Given the description of an element on the screen output the (x, y) to click on. 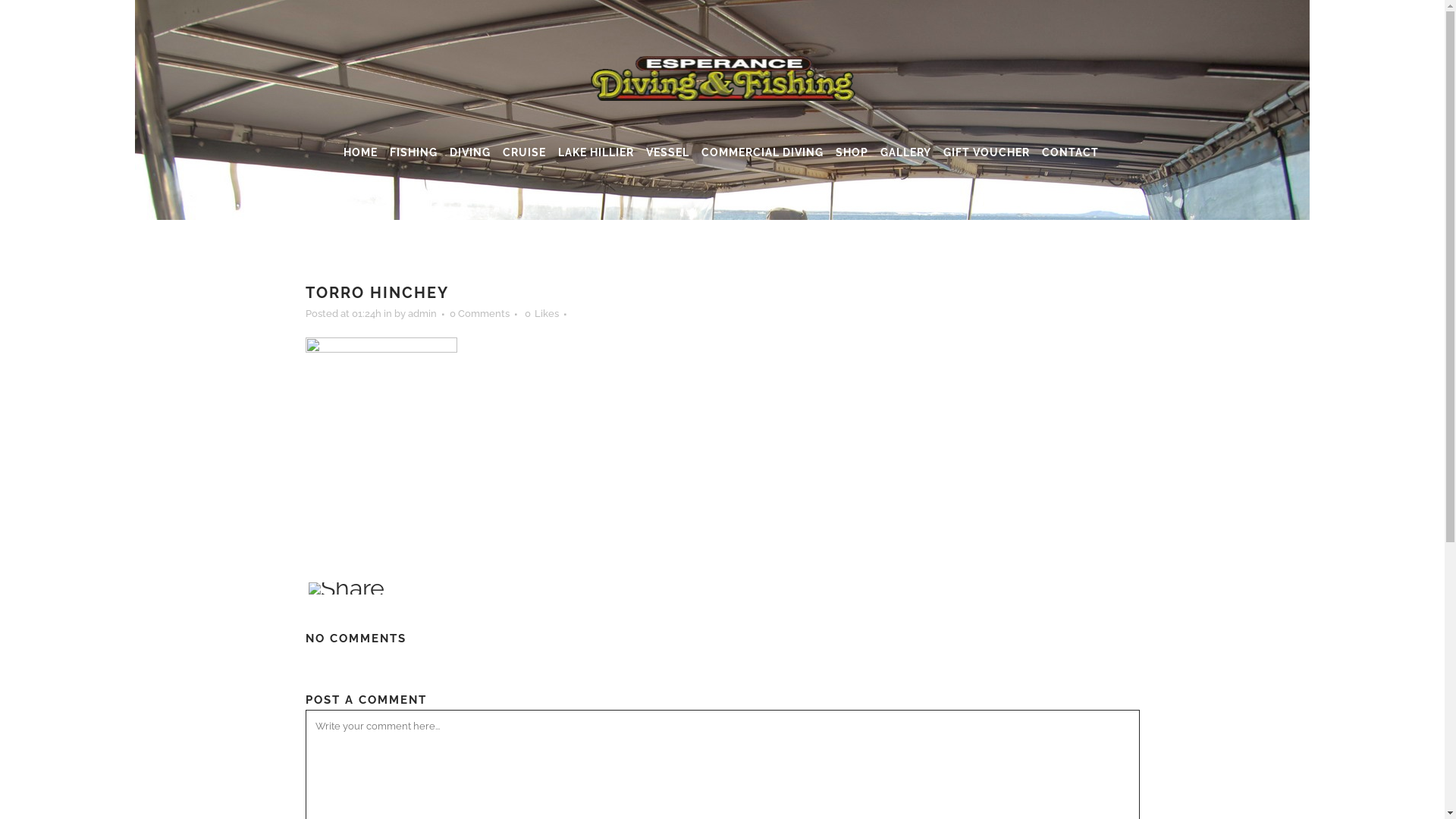
0 Comments Element type: text (478, 313)
GIFT VOUCHER Element type: text (986, 152)
FISHING Element type: text (413, 152)
SHOP Element type: text (851, 152)
CRUISE Element type: text (524, 152)
VESSEL Element type: text (667, 152)
DIVING Element type: text (469, 152)
COMMERCIAL DIVING Element type: text (762, 152)
admin Element type: text (421, 313)
GALLERY Element type: text (905, 152)
0 Likes Element type: text (541, 313)
LAKE HILLIER Element type: text (596, 152)
CONTACT Element type: text (1069, 152)
HOME Element type: text (360, 152)
